Given the description of an element on the screen output the (x, y) to click on. 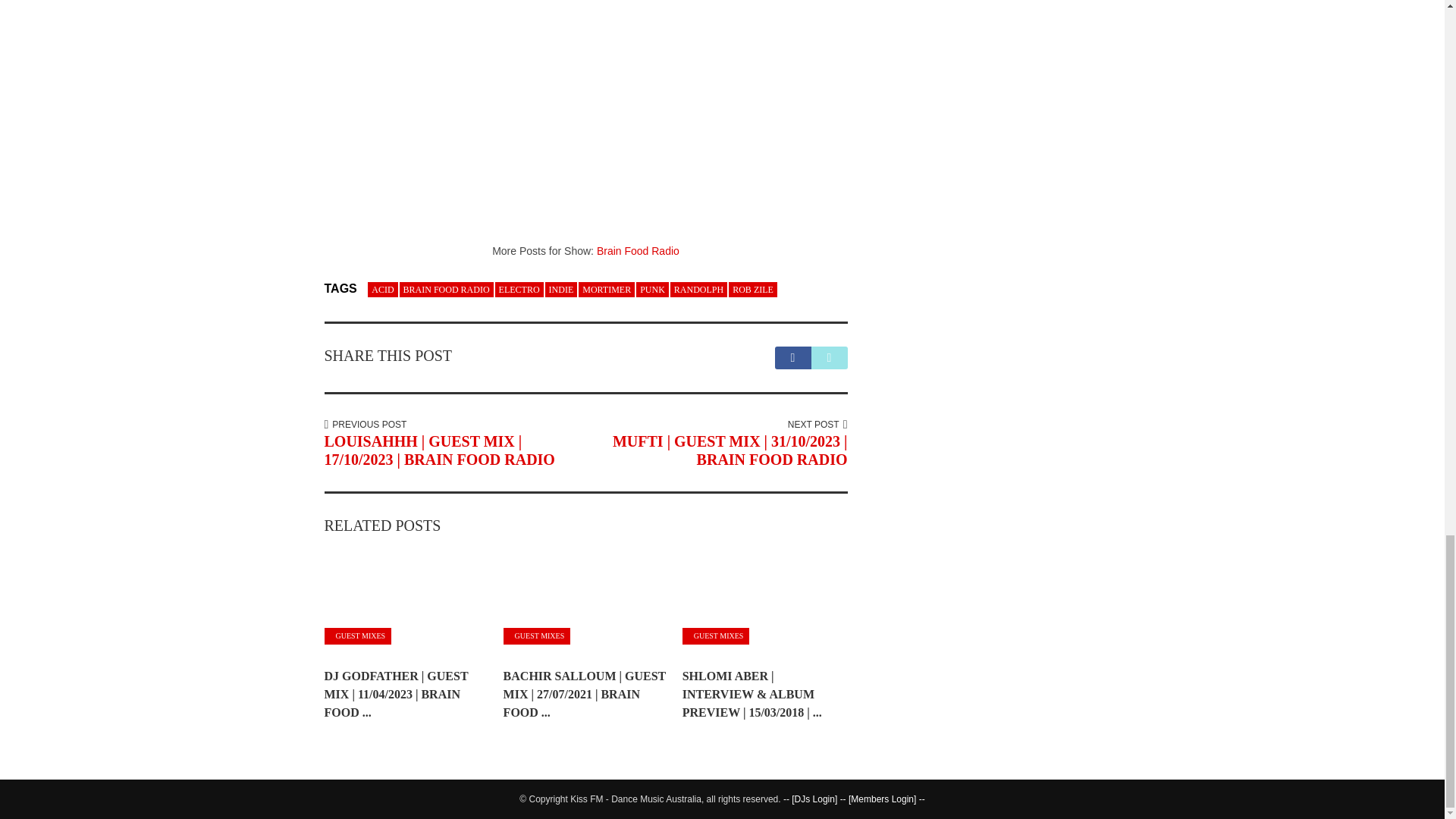
Next Related Show Post (729, 450)
View all posts tagged brain food radio (445, 288)
View all posts tagged mortimer (606, 288)
View all posts tagged acid (382, 288)
View all posts tagged rob zile (753, 288)
View all posts tagged punk (652, 288)
View all posts tagged randolph (697, 288)
View all posts tagged indie (561, 288)
View all posts tagged electro (519, 288)
Previous Related Show Post (439, 450)
